Given the description of an element on the screen output the (x, y) to click on. 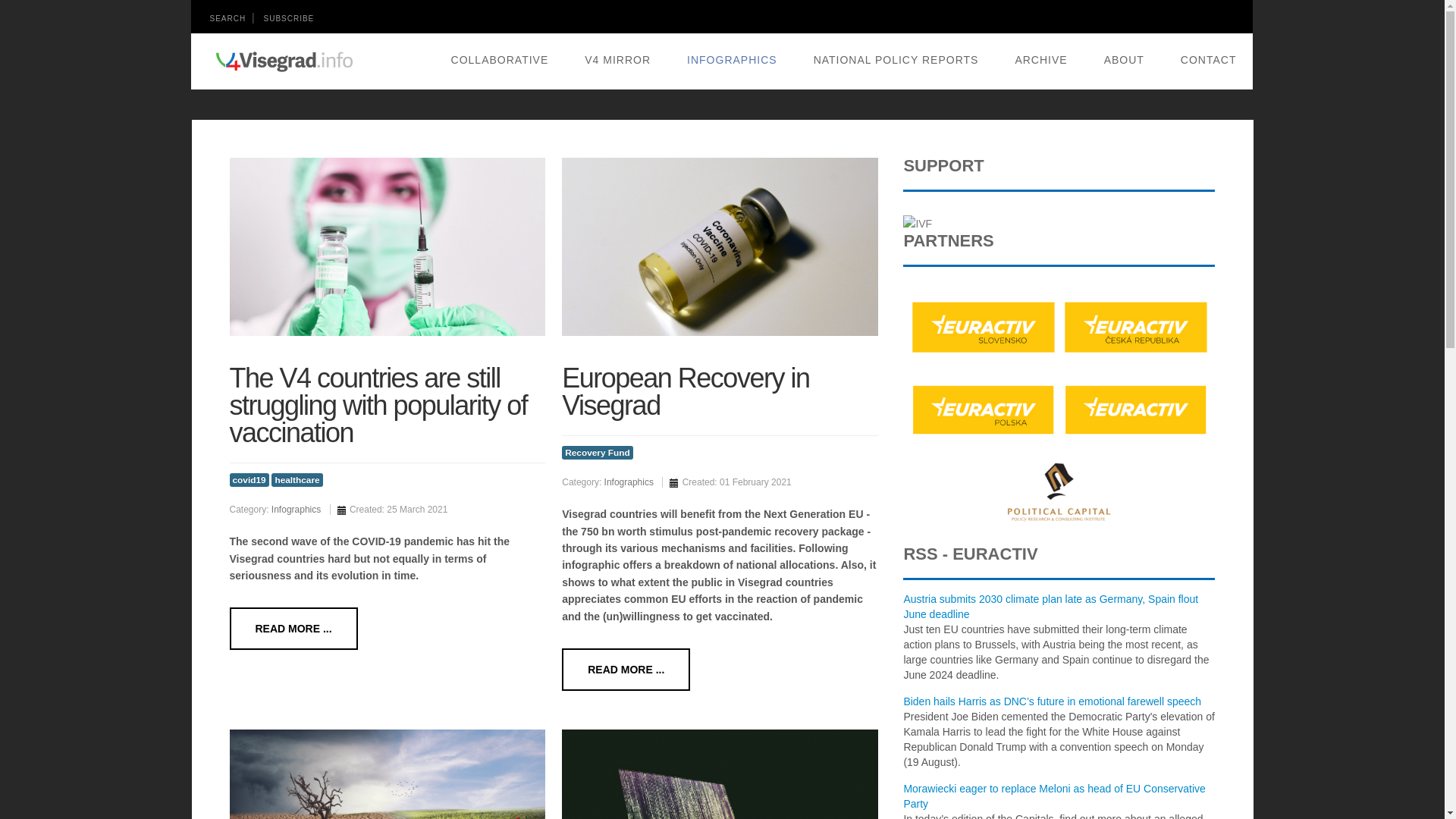
V4 MIRROR (617, 59)
Infographics (295, 509)
ABOUT (1123, 59)
European Recovery in Visegrad (685, 385)
Visegrad.info (284, 61)
healthcare (295, 479)
INFOGRAPHICS (732, 59)
Infographics (628, 481)
SEARCH (227, 18)
